Given the description of an element on the screen output the (x, y) to click on. 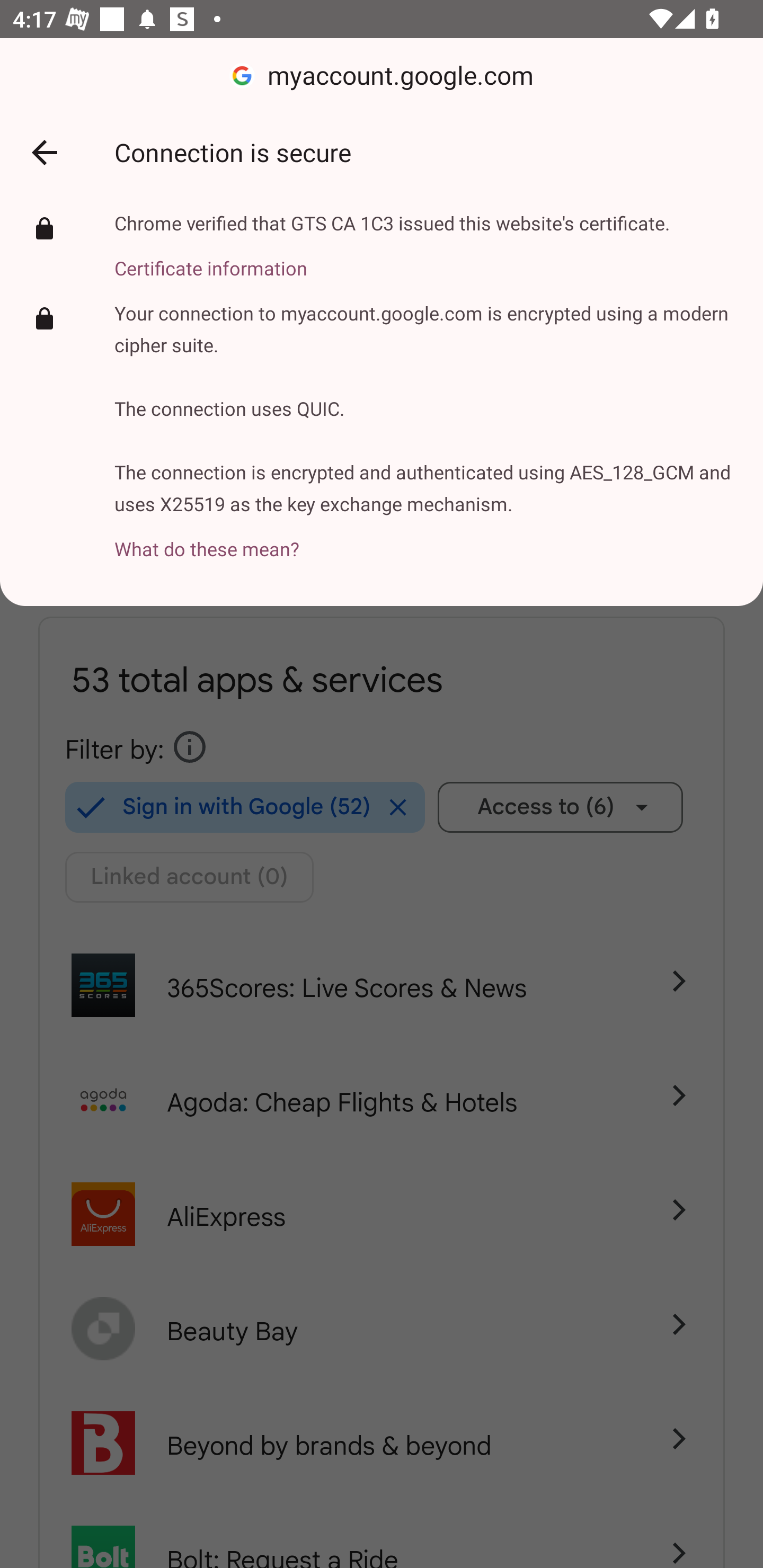
myaccount.google.com (381, 75)
Back (44, 152)
Certificate information (392, 257)
What do these mean? (425, 538)
